Given the description of an element on the screen output the (x, y) to click on. 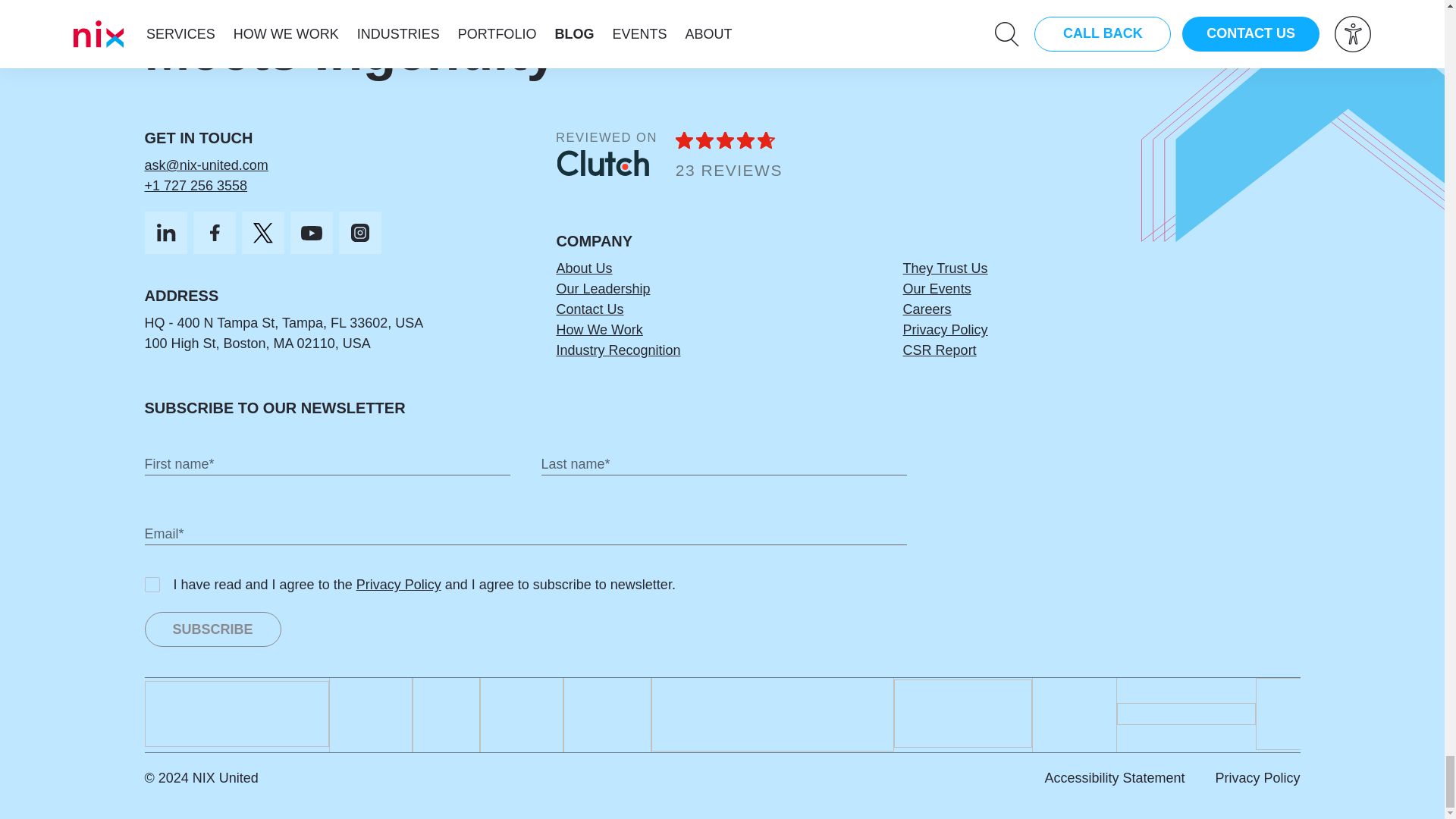
Subscribe (212, 629)
